Given the description of an element on the screen output the (x, y) to click on. 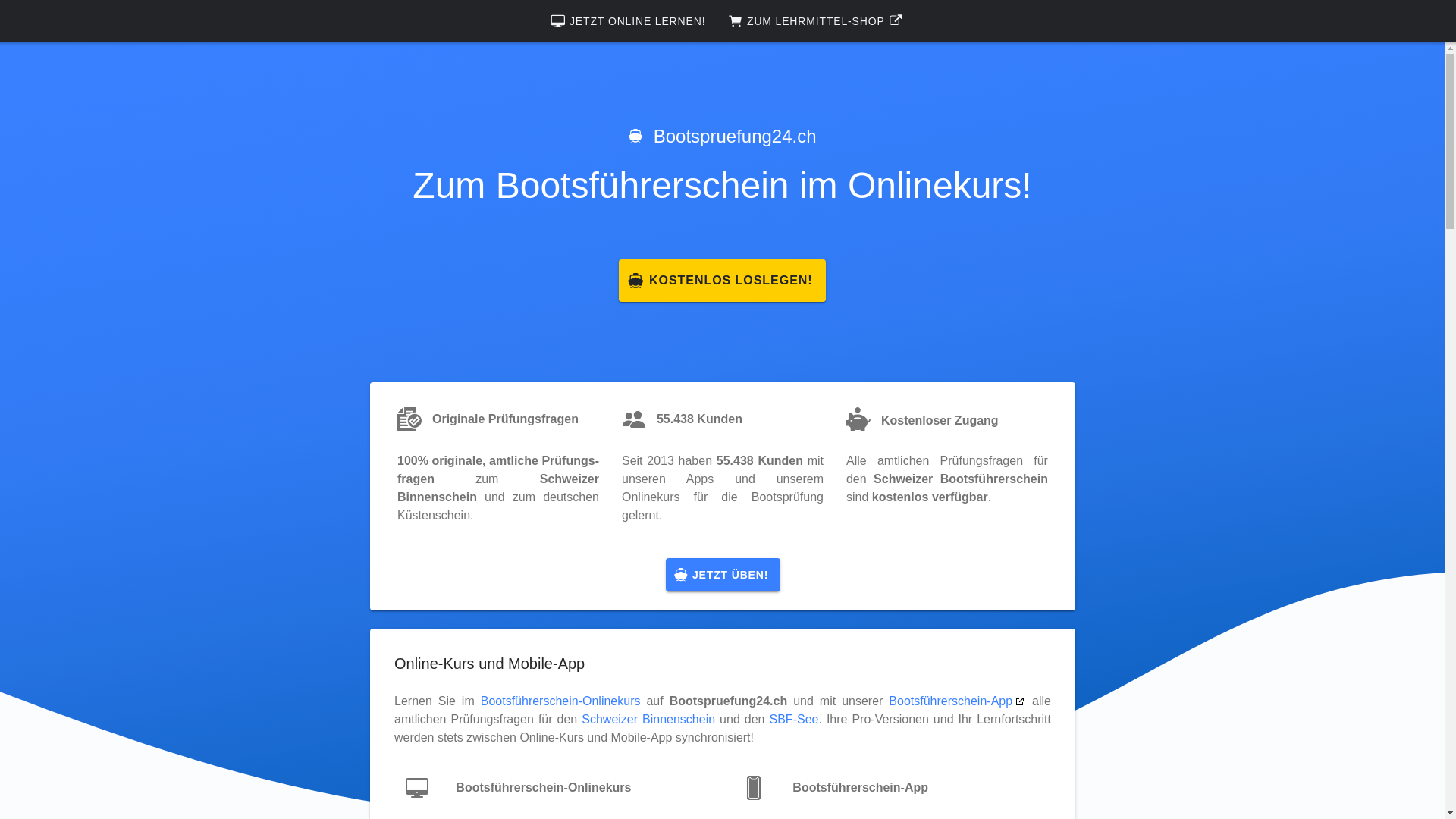
Schweizer Binnenschein Element type: text (648, 718)
SBF-See Element type: text (793, 718)
